Given the description of an element on the screen output the (x, y) to click on. 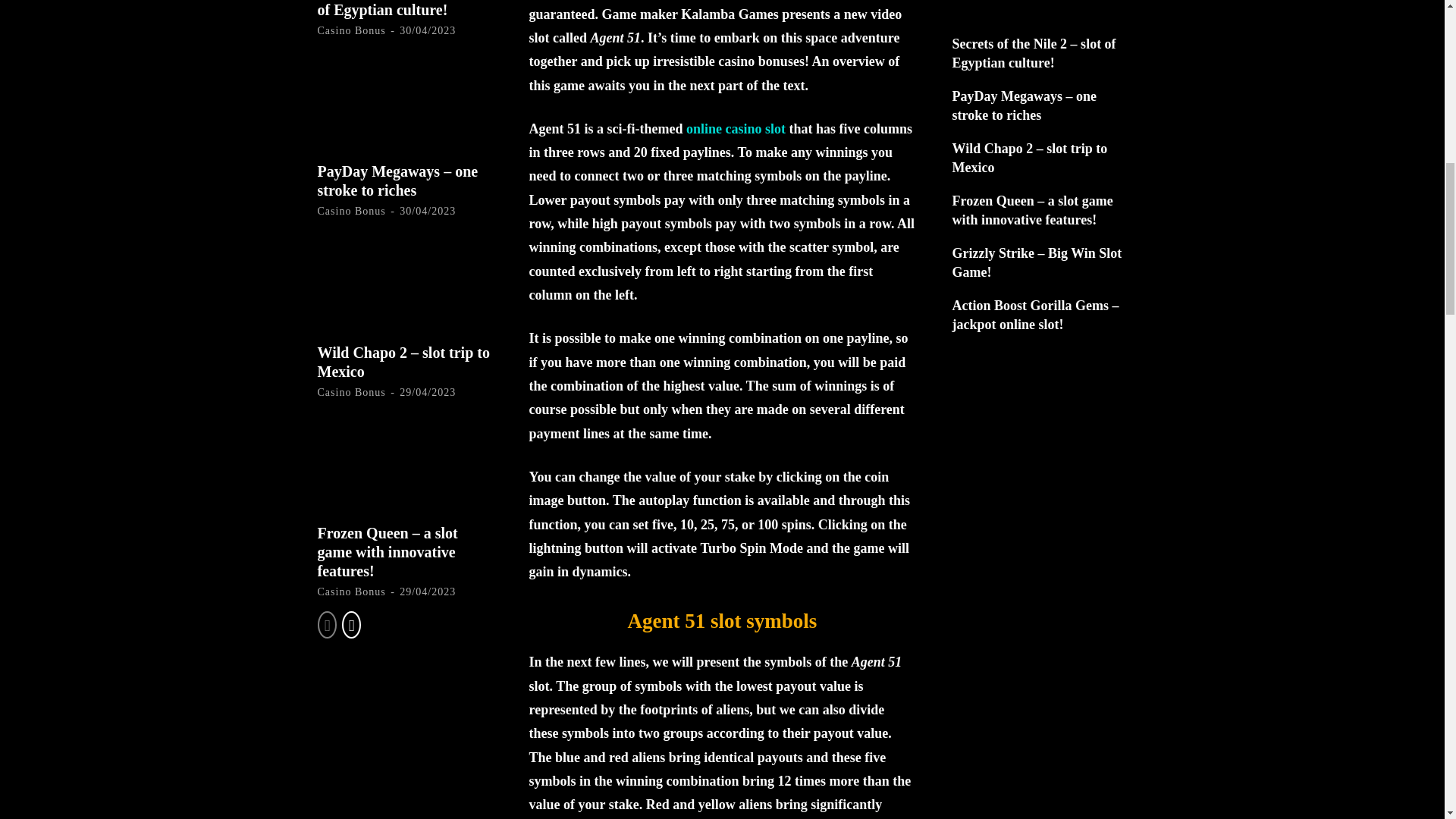
Casino Bonus (351, 30)
